Given the description of an element on the screen output the (x, y) to click on. 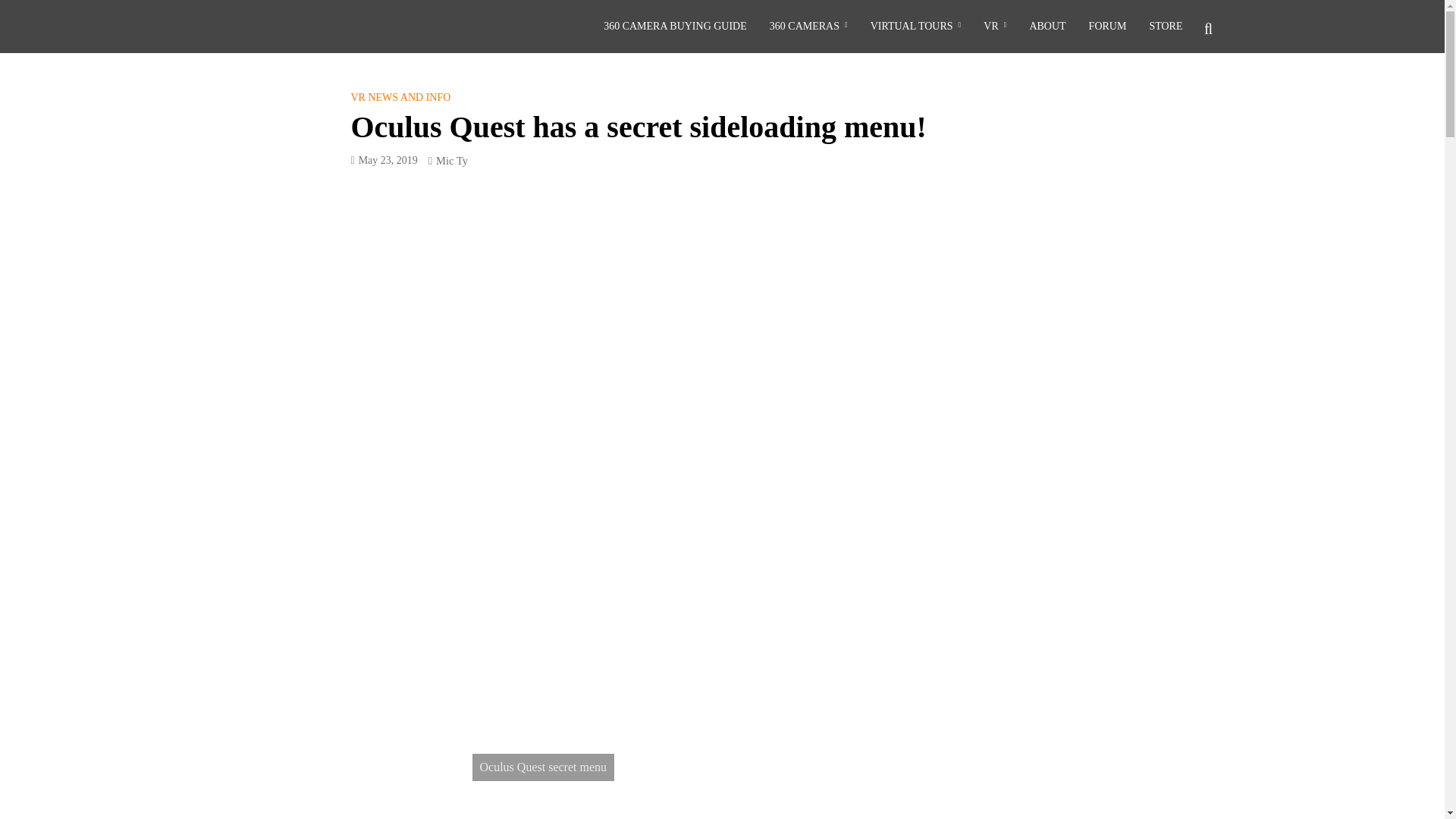
ABOUT (1047, 26)
360 CAMERAS (808, 26)
STORE (1165, 26)
360 CAMERA BUYING GUIDE (675, 26)
VR (994, 26)
FORUM (1107, 26)
VIRTUAL TOURS (915, 26)
